Given the description of an element on the screen output the (x, y) to click on. 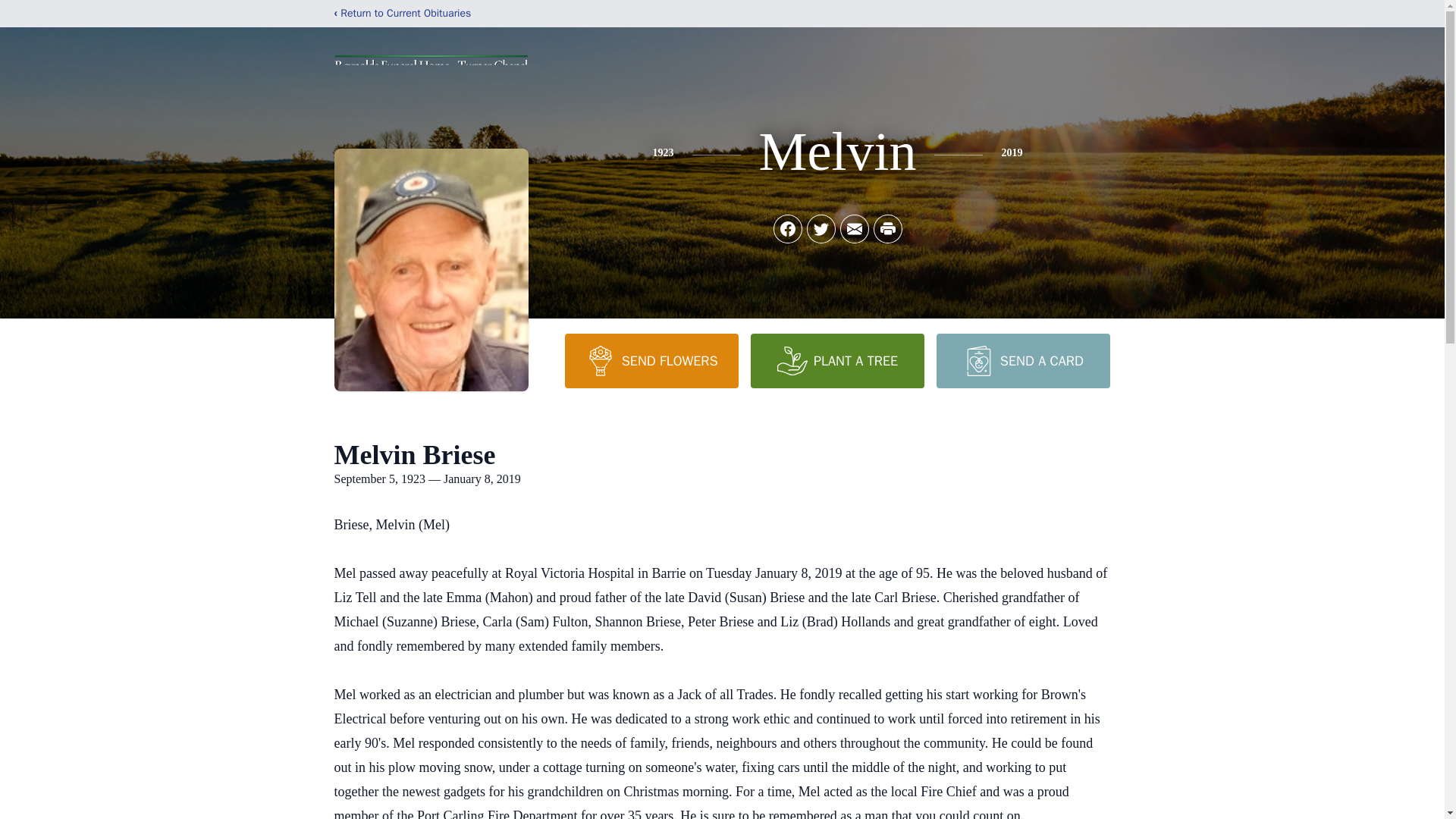
SEND A CARD (1022, 360)
SEND FLOWERS (651, 360)
PLANT A TREE (837, 360)
